Given the description of an element on the screen output the (x, y) to click on. 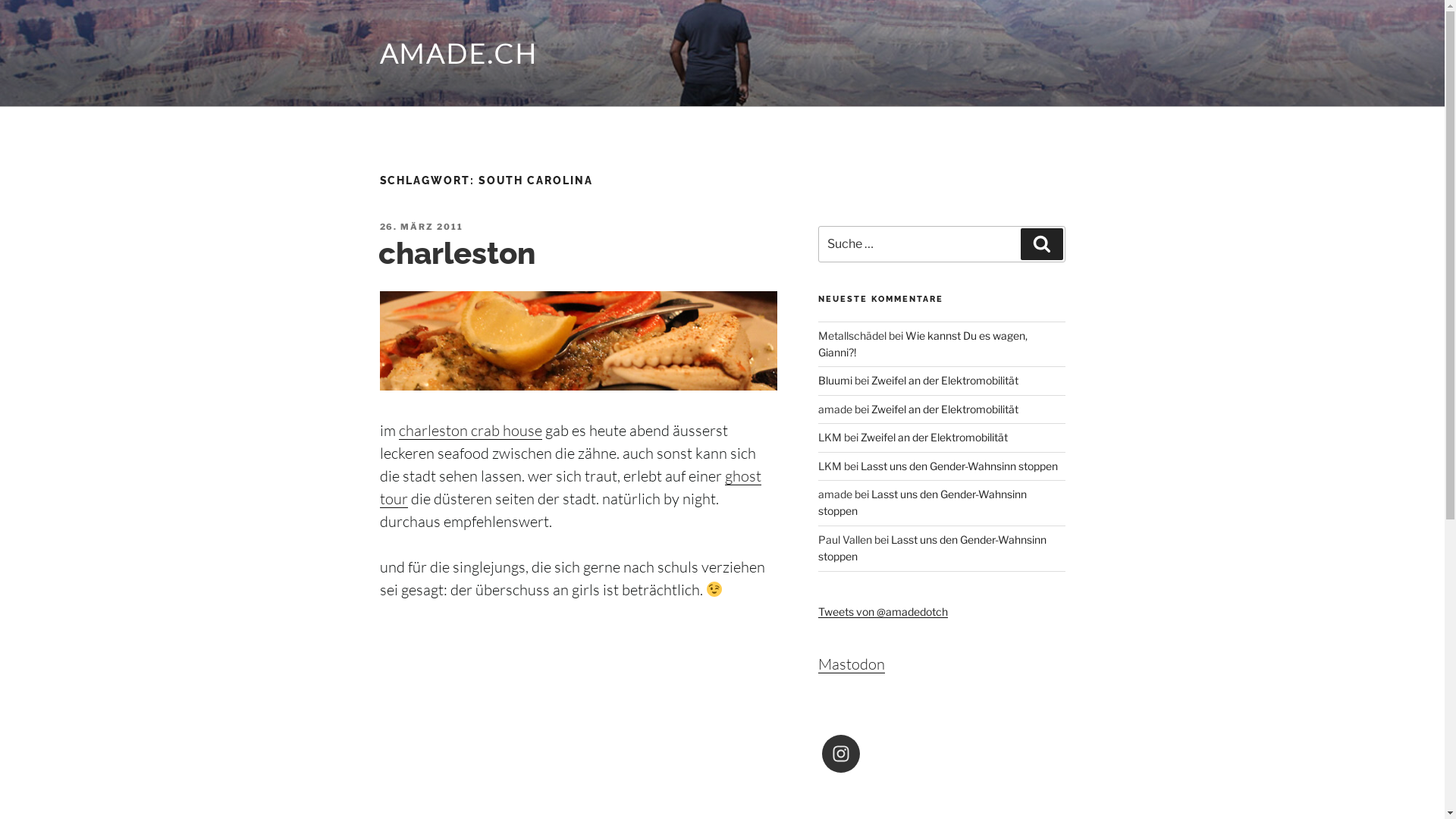
Bluumi Element type: text (835, 379)
Lasst uns den Gender-Wahnsinn stoppen Element type: text (922, 502)
Mastodon Element type: text (851, 663)
charleston crab house Element type: text (470, 429)
Lasst uns den Gender-Wahnsinn stoppen Element type: text (958, 465)
AMADE.CH Element type: text (457, 52)
Suche Element type: text (1041, 244)
6814-1 Element type: hover (577, 340)
ghost tour Element type: text (569, 487)
charleston Element type: text (455, 252)
@ Element type: hover (941, 753)
Lasst uns den Gender-Wahnsinn stoppen Element type: text (932, 547)
Wie kannst Du es wagen, Gianni?! Element type: text (922, 343)
Tweets von @amadedotch Element type: text (882, 611)
